Given the description of an element on the screen output the (x, y) to click on. 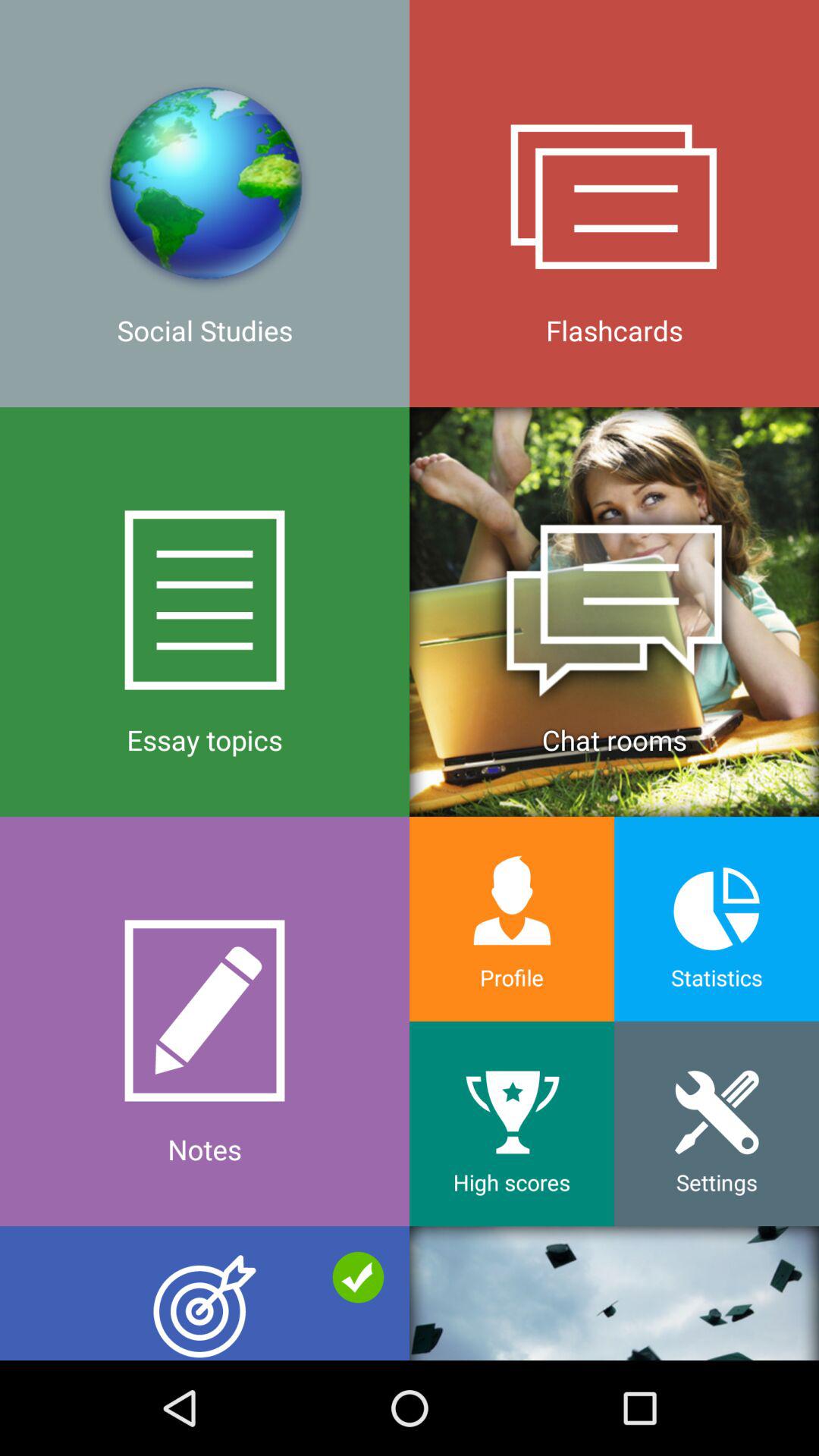
jump to review item (204, 1293)
